Given the description of an element on the screen output the (x, y) to click on. 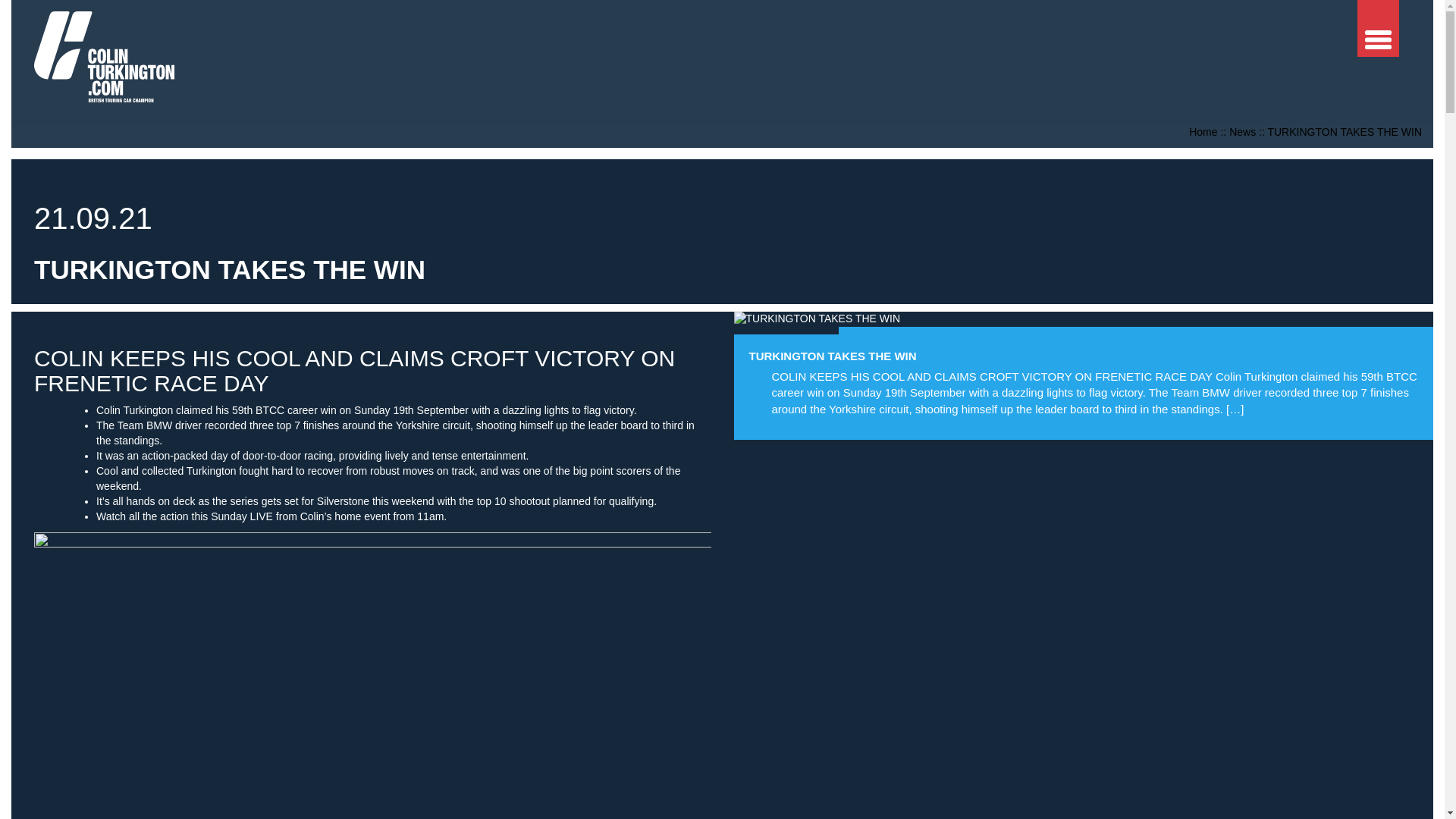
News (1241, 132)
Home (1203, 132)
